Given the description of an element on the screen output the (x, y) to click on. 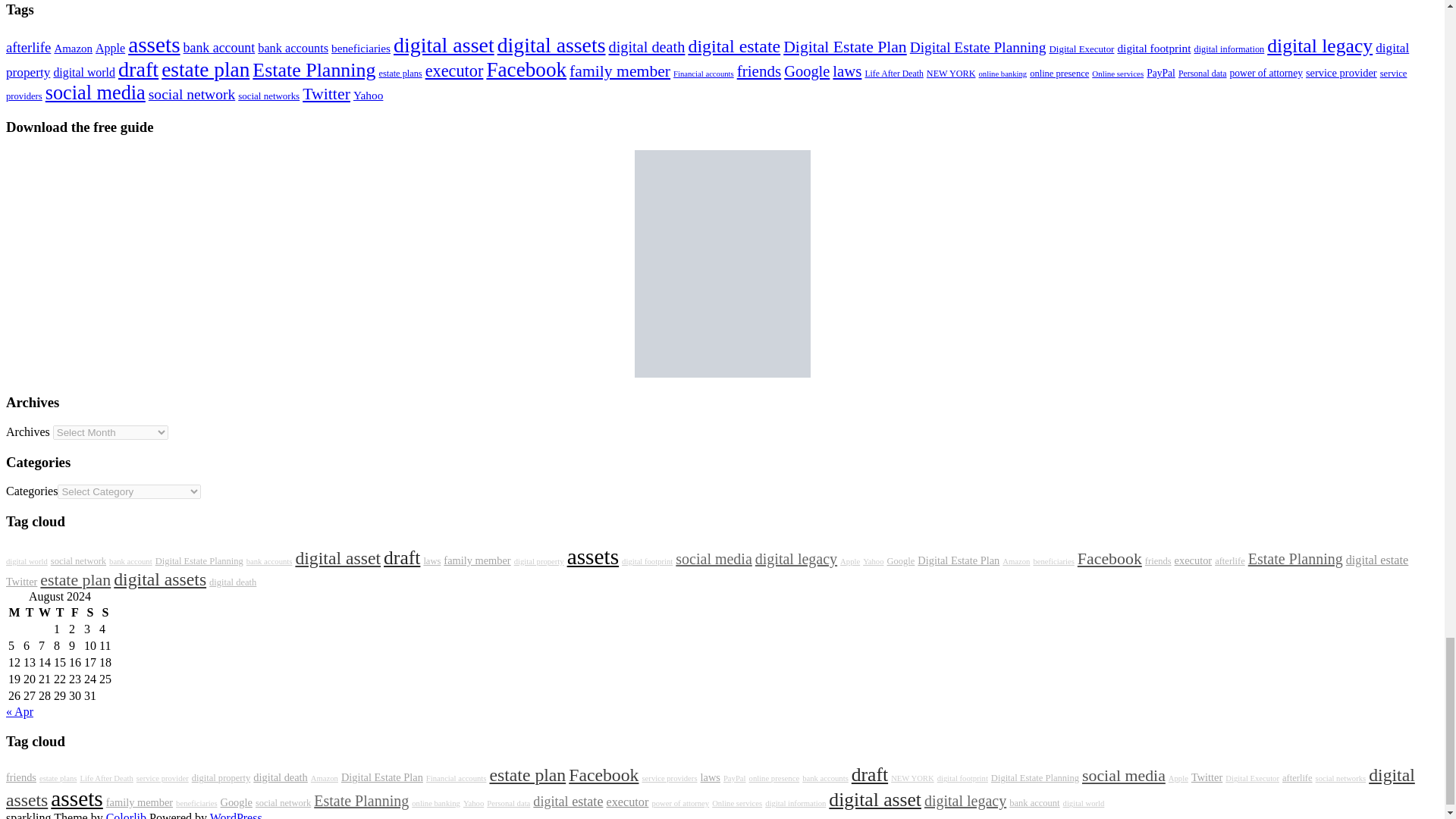
123 topics (199, 561)
448 topics (337, 557)
469 topics (402, 557)
76 topics (269, 561)
71 topics (26, 561)
96 topics (130, 561)
125 topics (78, 561)
